Given the description of an element on the screen output the (x, y) to click on. 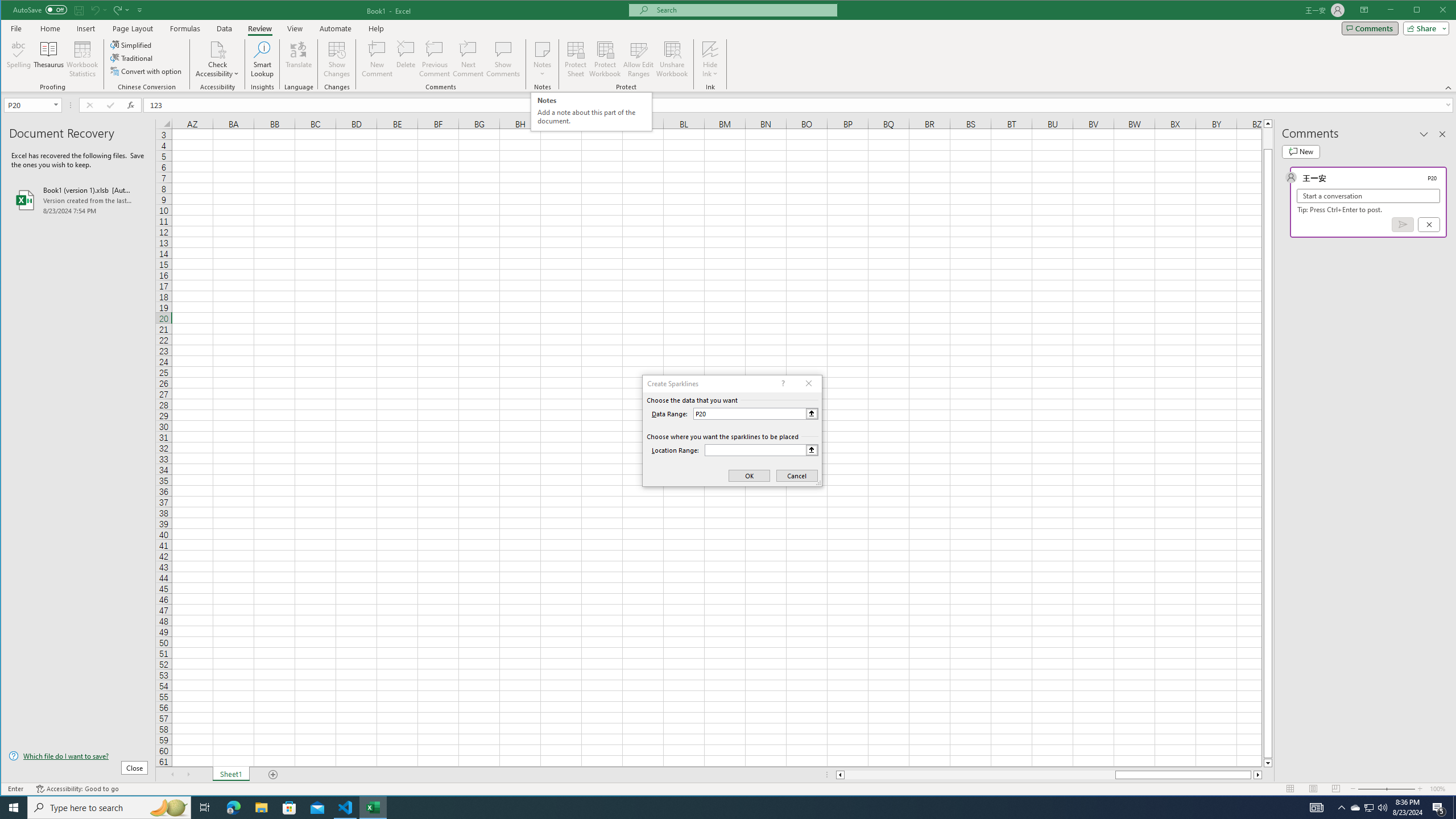
New Comment (377, 59)
Hide Ink (710, 59)
Cancel (1428, 224)
